Given the description of an element on the screen output the (x, y) to click on. 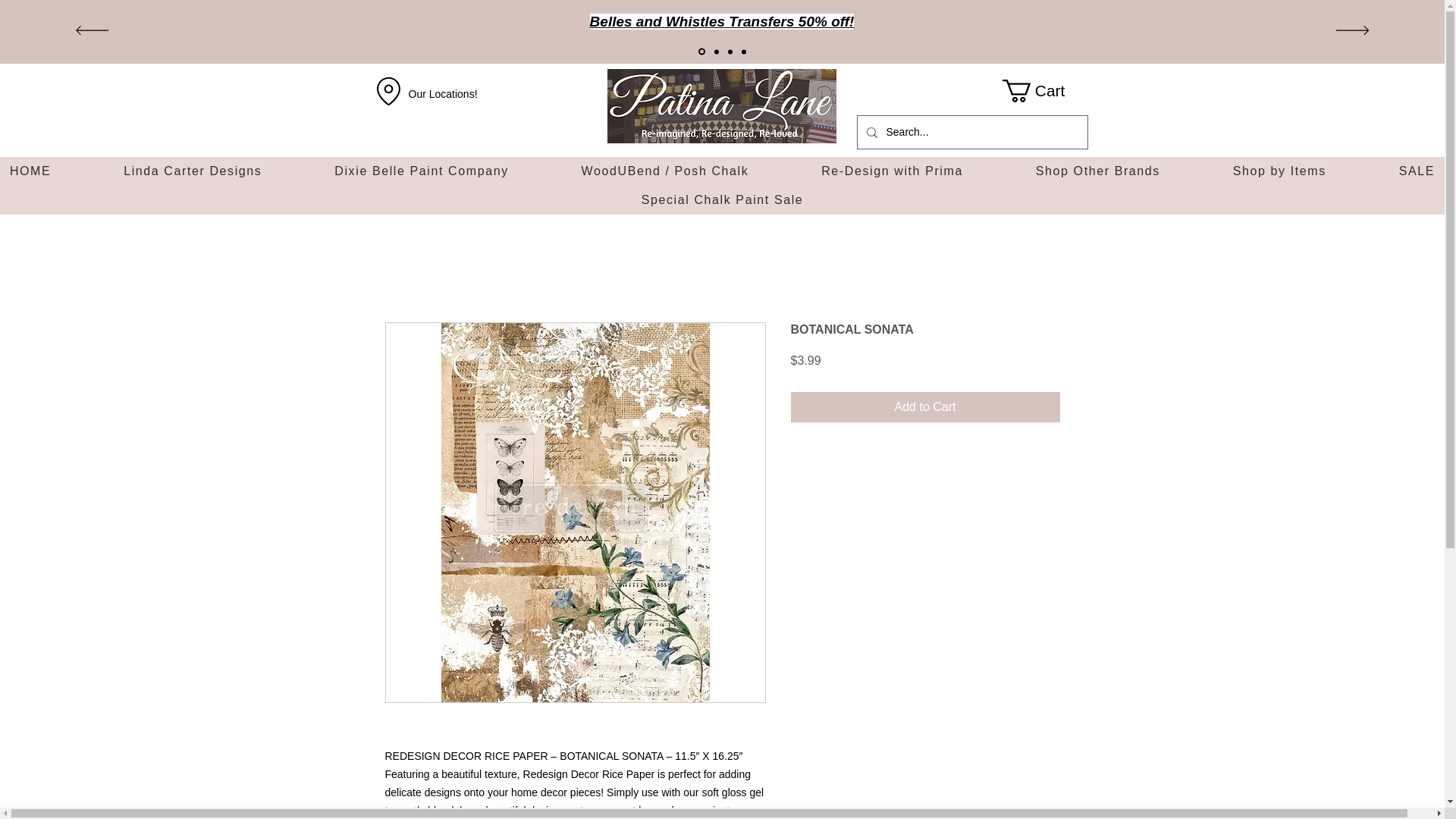
Linda Carter Designs (191, 171)
Dixie Belle Paint Company (421, 171)
HOME (30, 171)
Cart (1045, 90)
Cart (1045, 90)
